Given the description of an element on the screen output the (x, y) to click on. 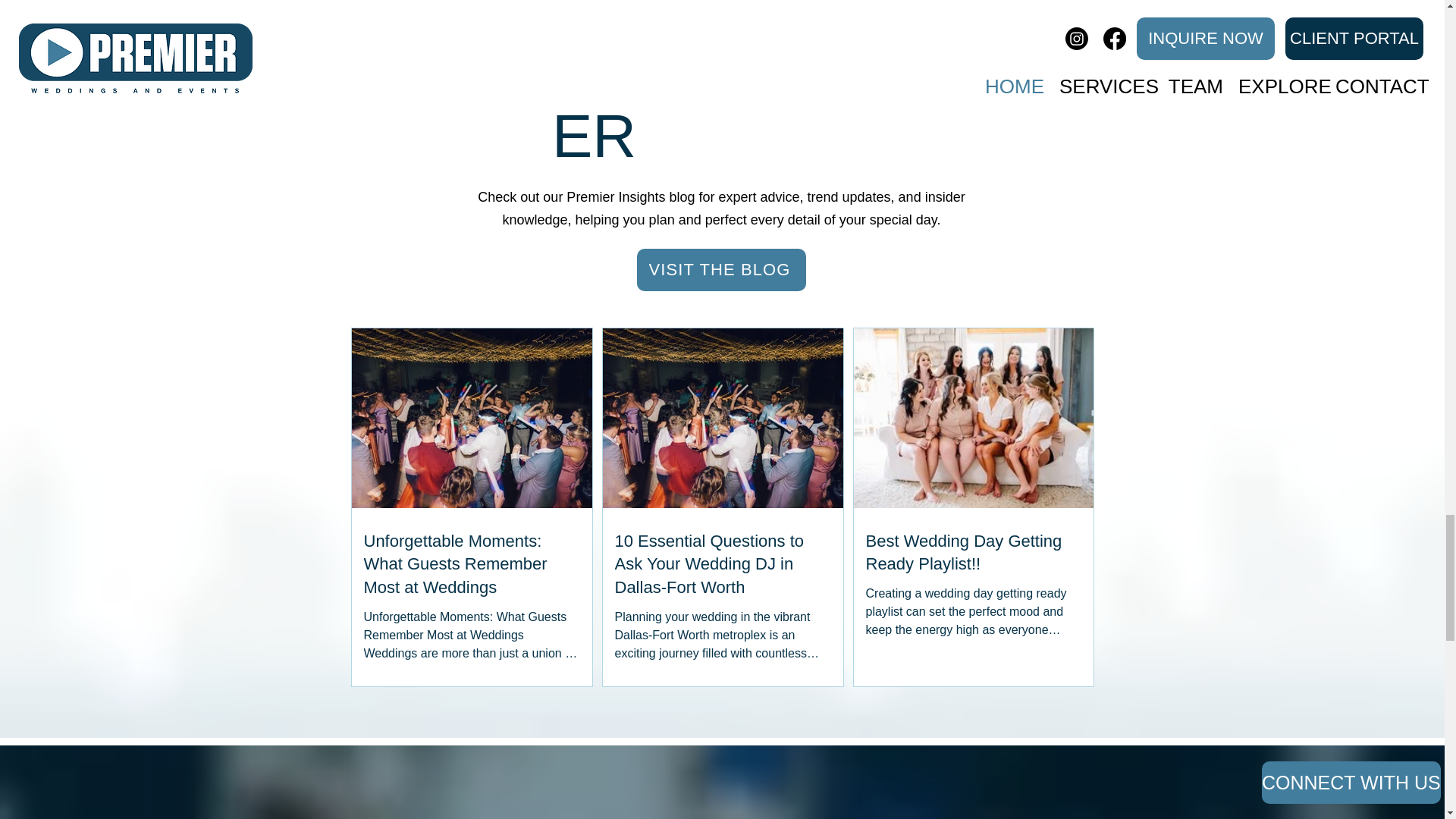
Best Wedding Day Getting Ready Playlist!! (973, 553)
Unforgettable Moments: What Guests Remember Most at Weddings (471, 564)
VISIT THE BLOG (721, 269)
